Given the description of an element on the screen output the (x, y) to click on. 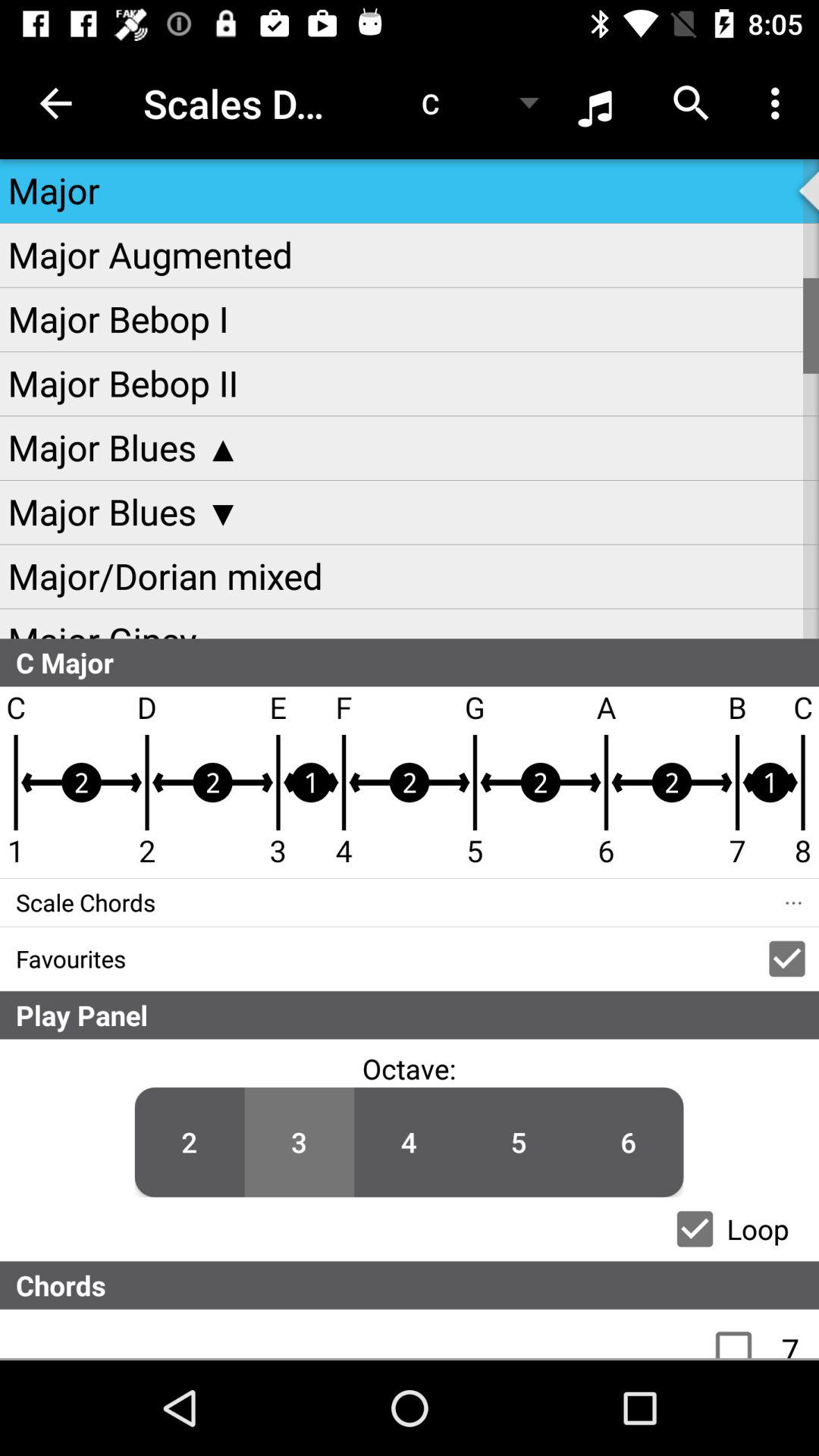
select button (694, 1228)
